Given the description of an element on the screen output the (x, y) to click on. 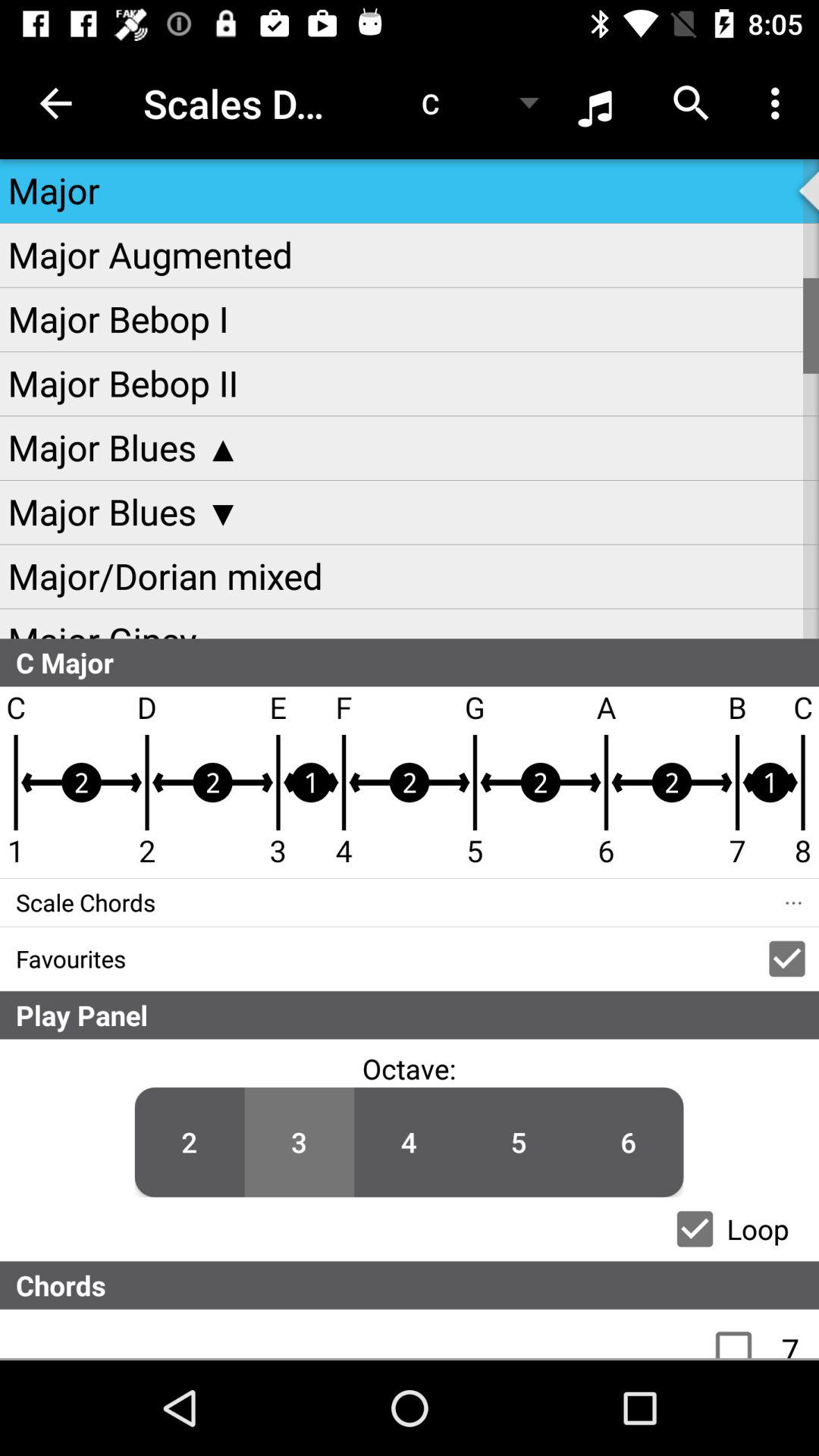
select button (694, 1228)
